Given the description of an element on the screen output the (x, y) to click on. 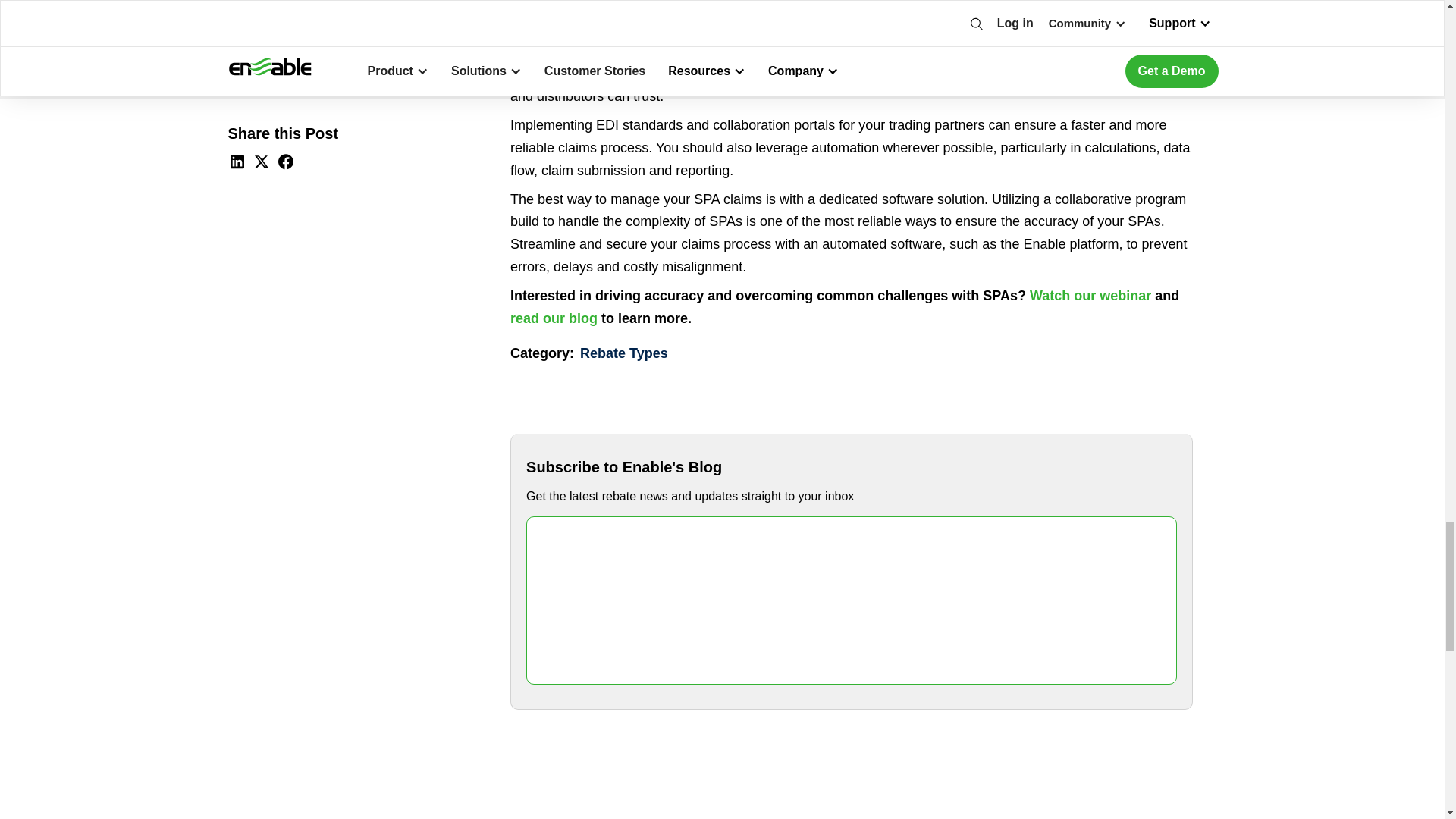
Form 0 (850, 600)
